Given the description of an element on the screen output the (x, y) to click on. 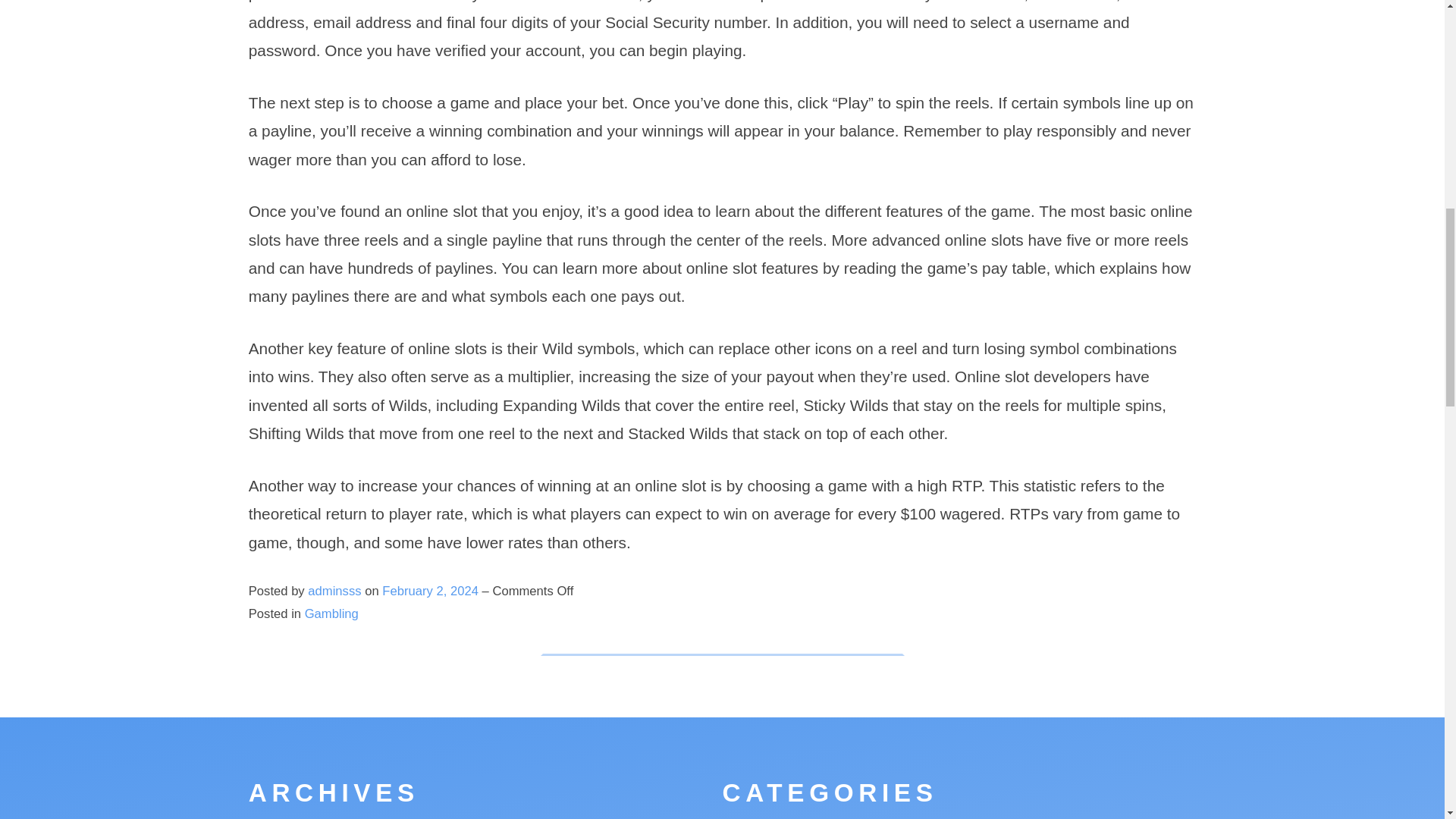
Gambling (331, 613)
adminsss (334, 590)
February 2, 2024 (431, 590)
